Given the description of an element on the screen output the (x, y) to click on. 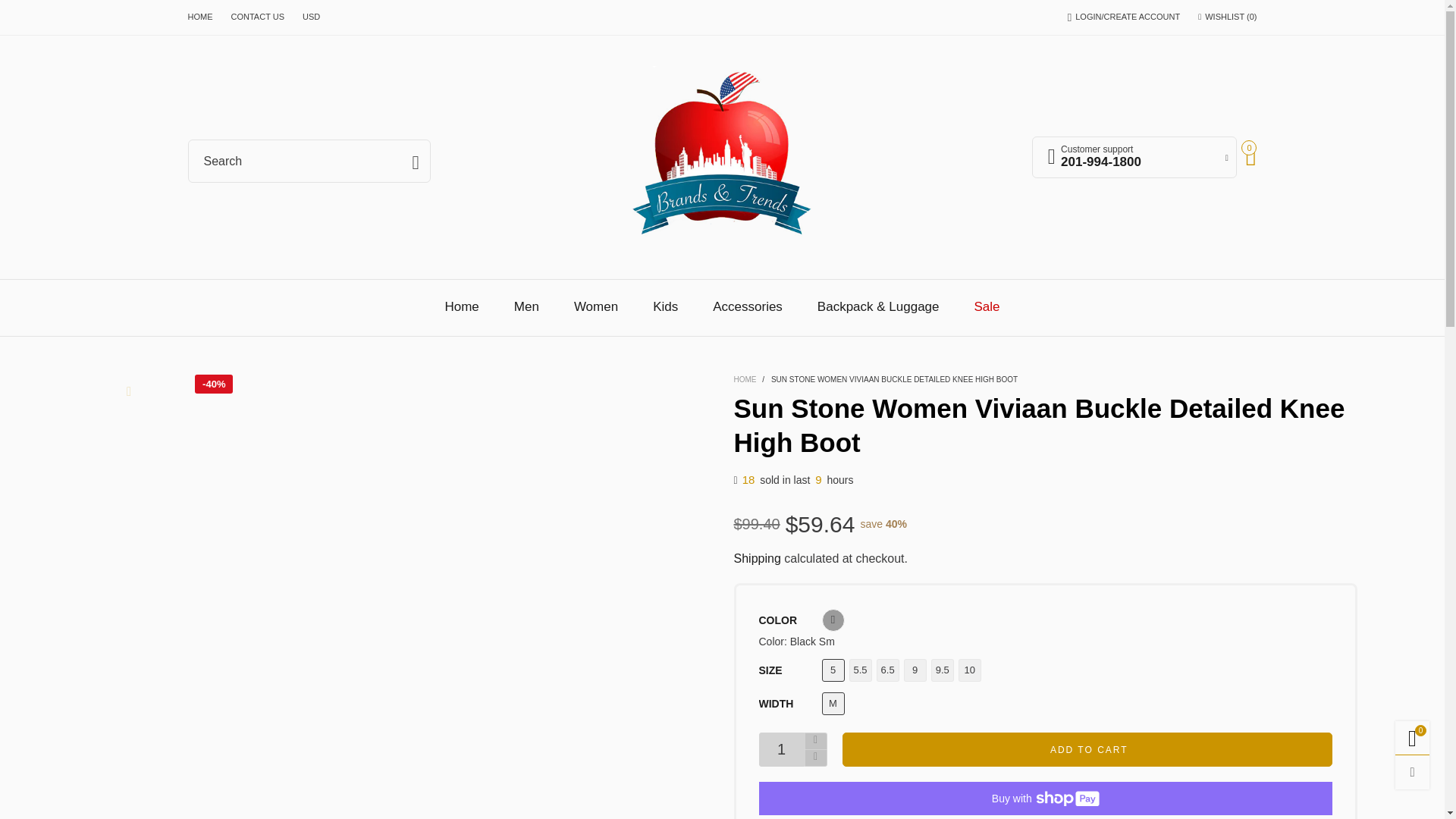
Currency (311, 17)
Men (525, 306)
Men (525, 306)
Wishlist (1134, 157)
bntny (1227, 17)
Women (721, 158)
HOME (595, 306)
My Account (200, 17)
Sign In (1134, 157)
